Given the description of an element on the screen output the (x, y) to click on. 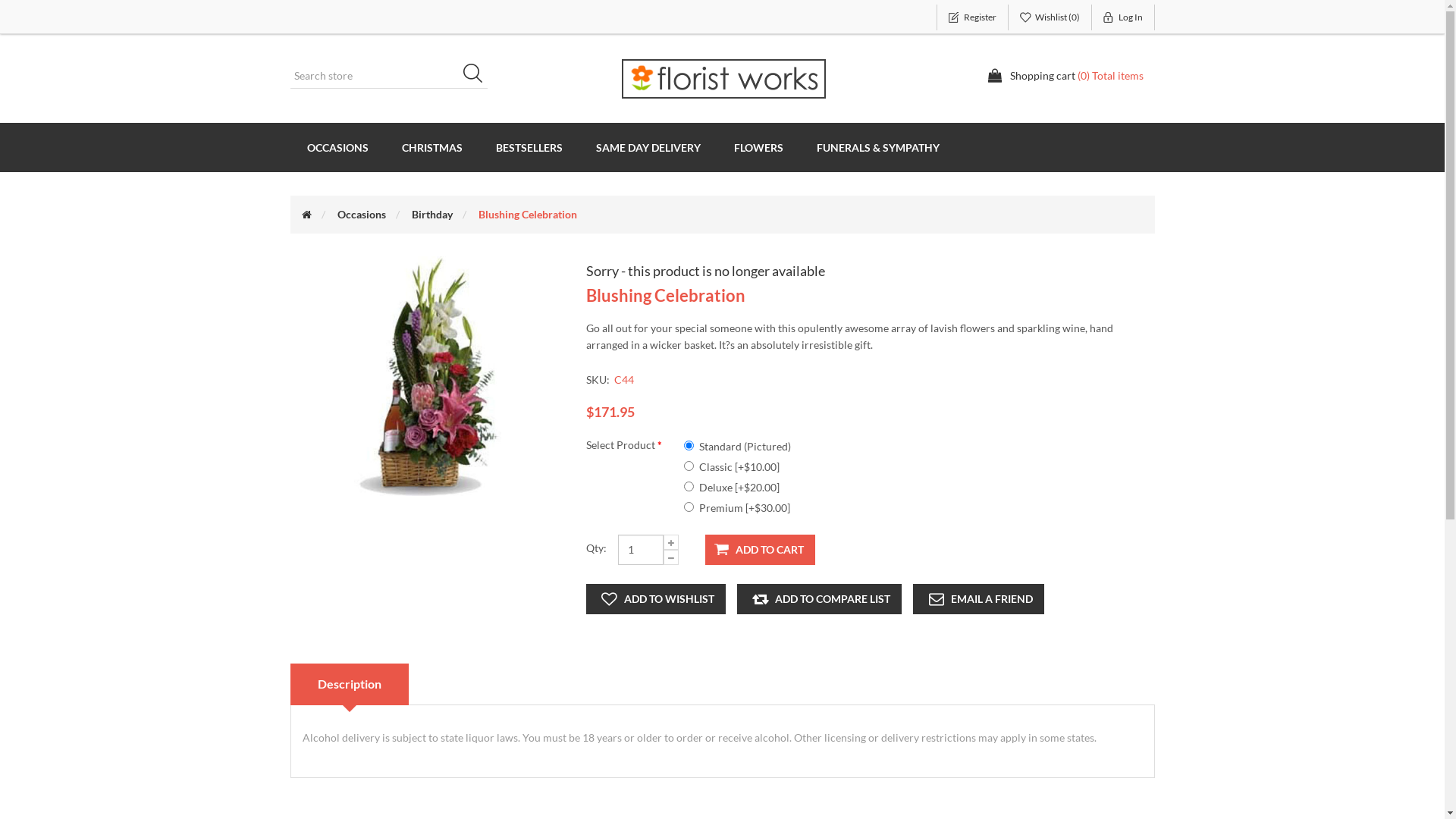
FLOWERS Element type: text (758, 147)
Add to cart Element type: text (760, 549)
OCCASIONS Element type: text (336, 147)
Description Element type: text (348, 684)
Shopping cart (0) Total items Element type: text (1065, 75)
Wishlist (0) Element type: text (1050, 17)
CHRISTMAS Element type: text (432, 147)
Email a friend Element type: text (978, 598)
Log In Element type: text (1123, 17)
Occasions Element type: text (360, 213)
Register Element type: text (971, 17)
Add to compare list Element type: text (819, 598)
FUNERALS & SYMPATHY Element type: text (877, 147)
Birthday Element type: text (431, 213)
Add to wishlist Element type: text (654, 598)
Picture of Blushing Celebration Element type: hover (425, 375)
SAME DAY DELIVERY Element type: text (648, 147)
BESTSELLERS Element type: text (529, 147)
